Given the description of an element on the screen output the (x, y) to click on. 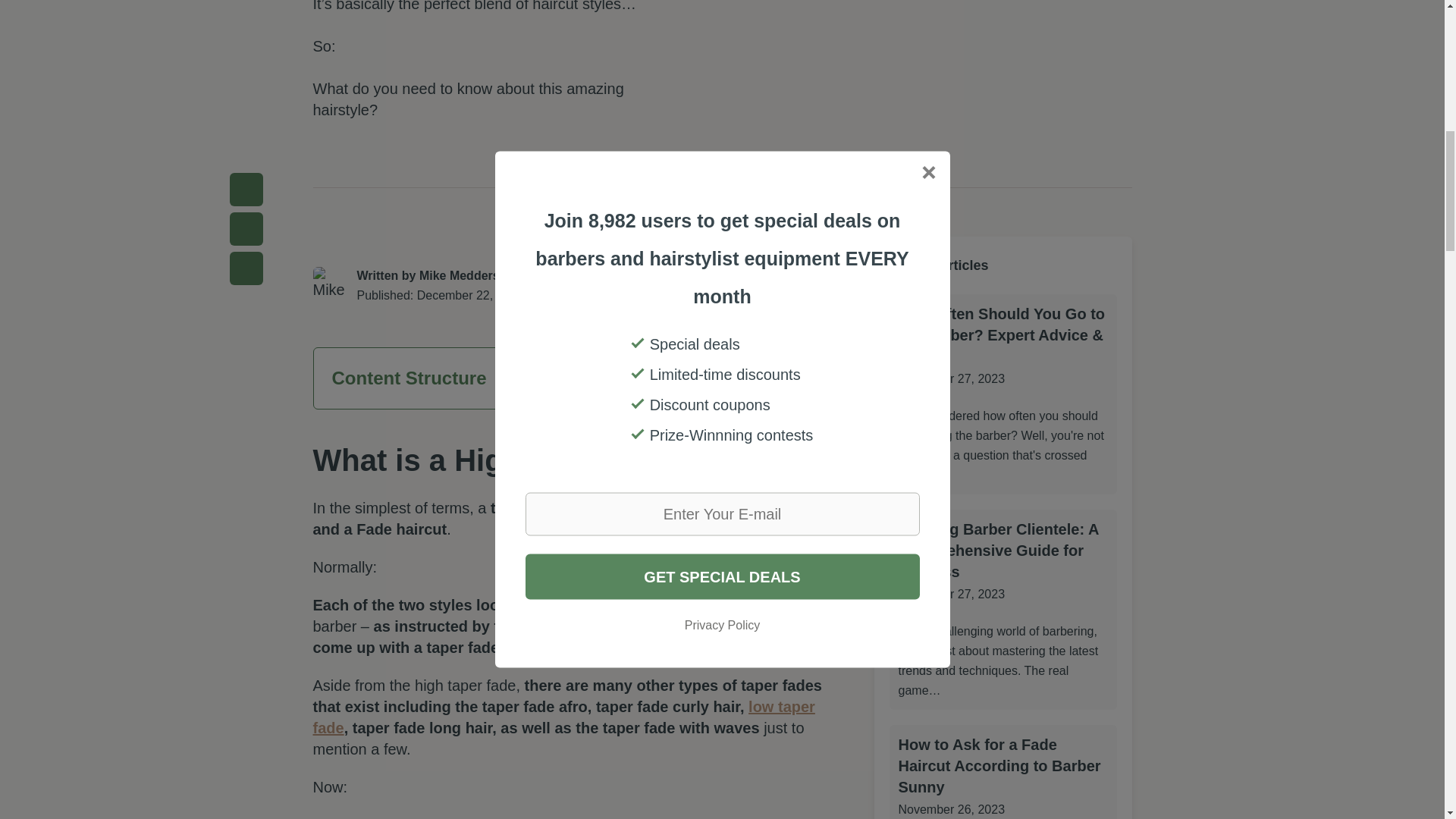
low taper fade (563, 717)
Content Structure (578, 378)
